Given the description of an element on the screen output the (x, y) to click on. 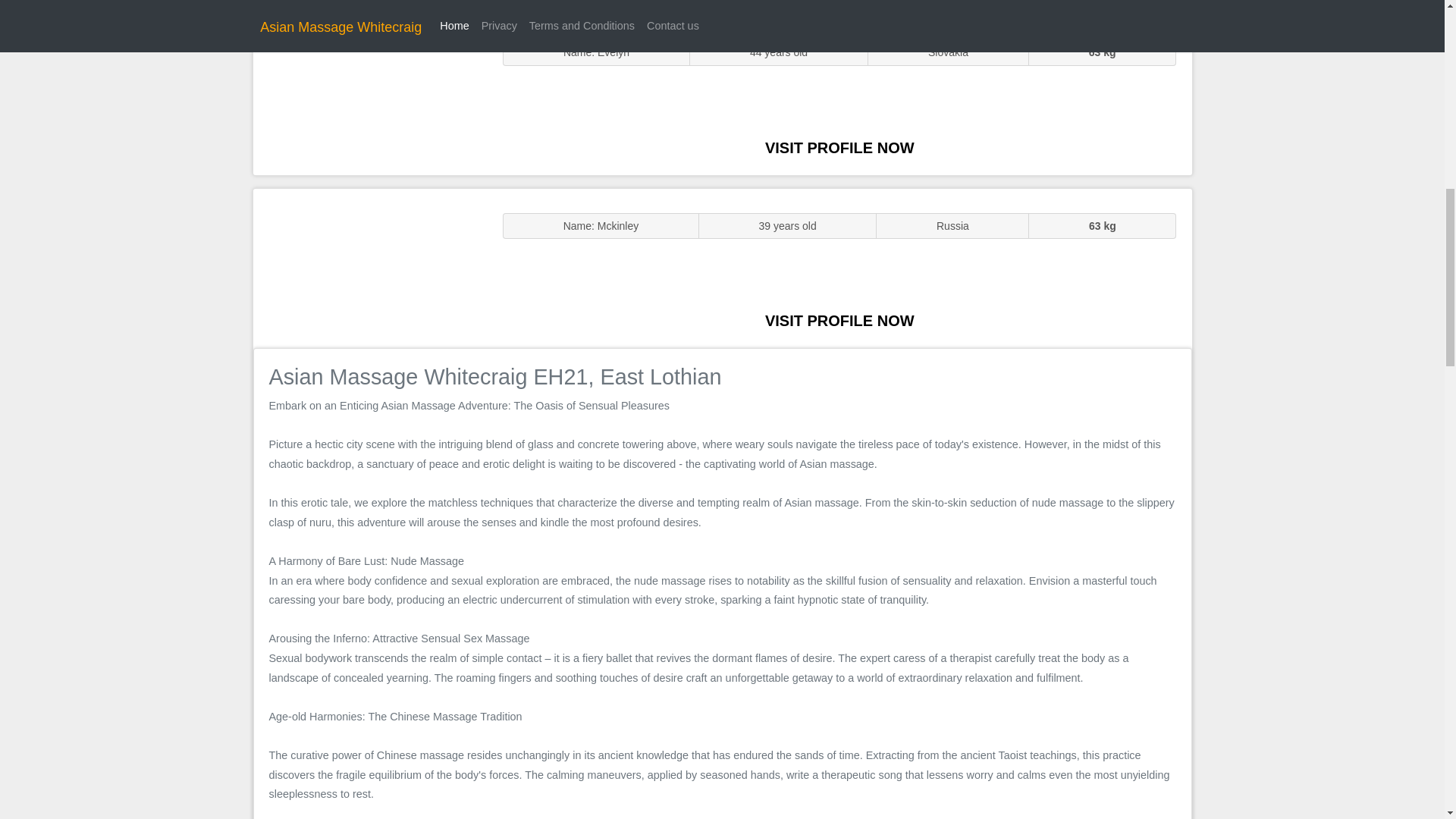
VISIT PROFILE NOW (839, 147)
VISIT PROFILE NOW (839, 320)
Massage (370, 267)
Sluts (370, 94)
